Given the description of an element on the screen output the (x, y) to click on. 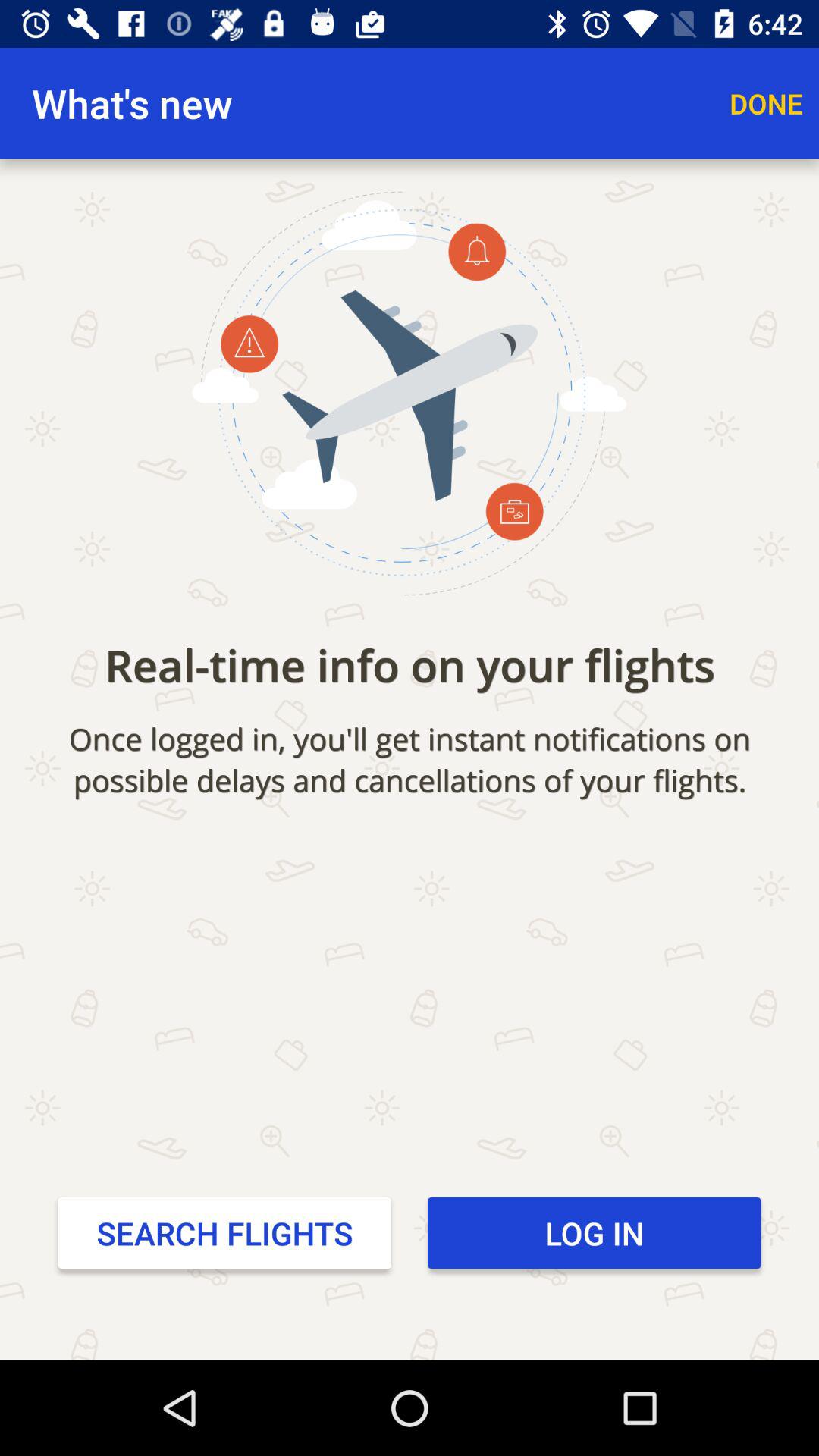
turn on the icon to the right of search flights item (593, 1232)
